Given the description of an element on the screen output the (x, y) to click on. 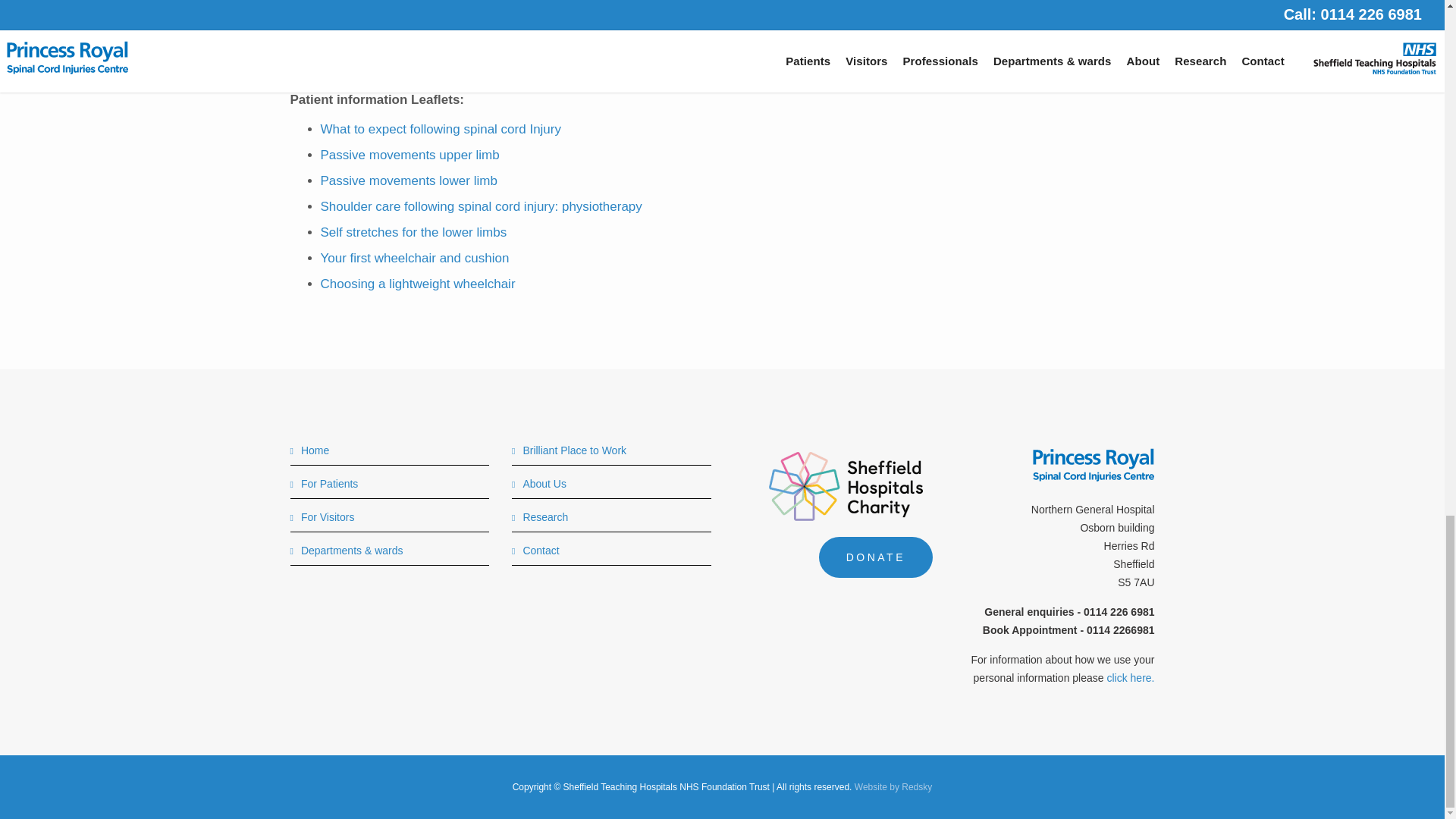
Website Design Barnsley (893, 787)
DOWNLOAD (359, 28)
